Given the description of an element on the screen output the (x, y) to click on. 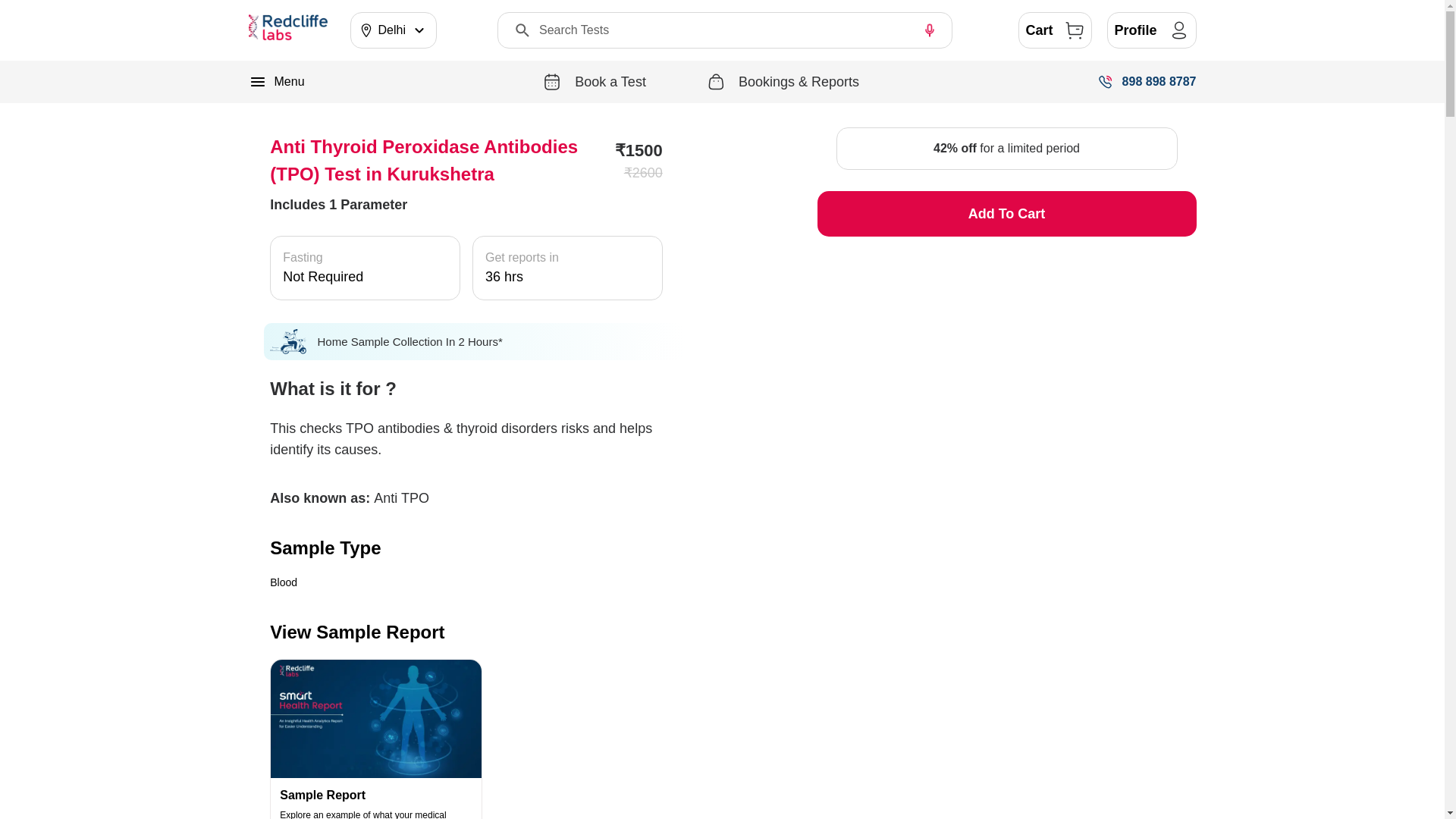
Cart (1054, 30)
Add To Cart (1006, 213)
898 898 8787 (1146, 81)
Book a Test (594, 81)
